Given the description of an element on the screen output the (x, y) to click on. 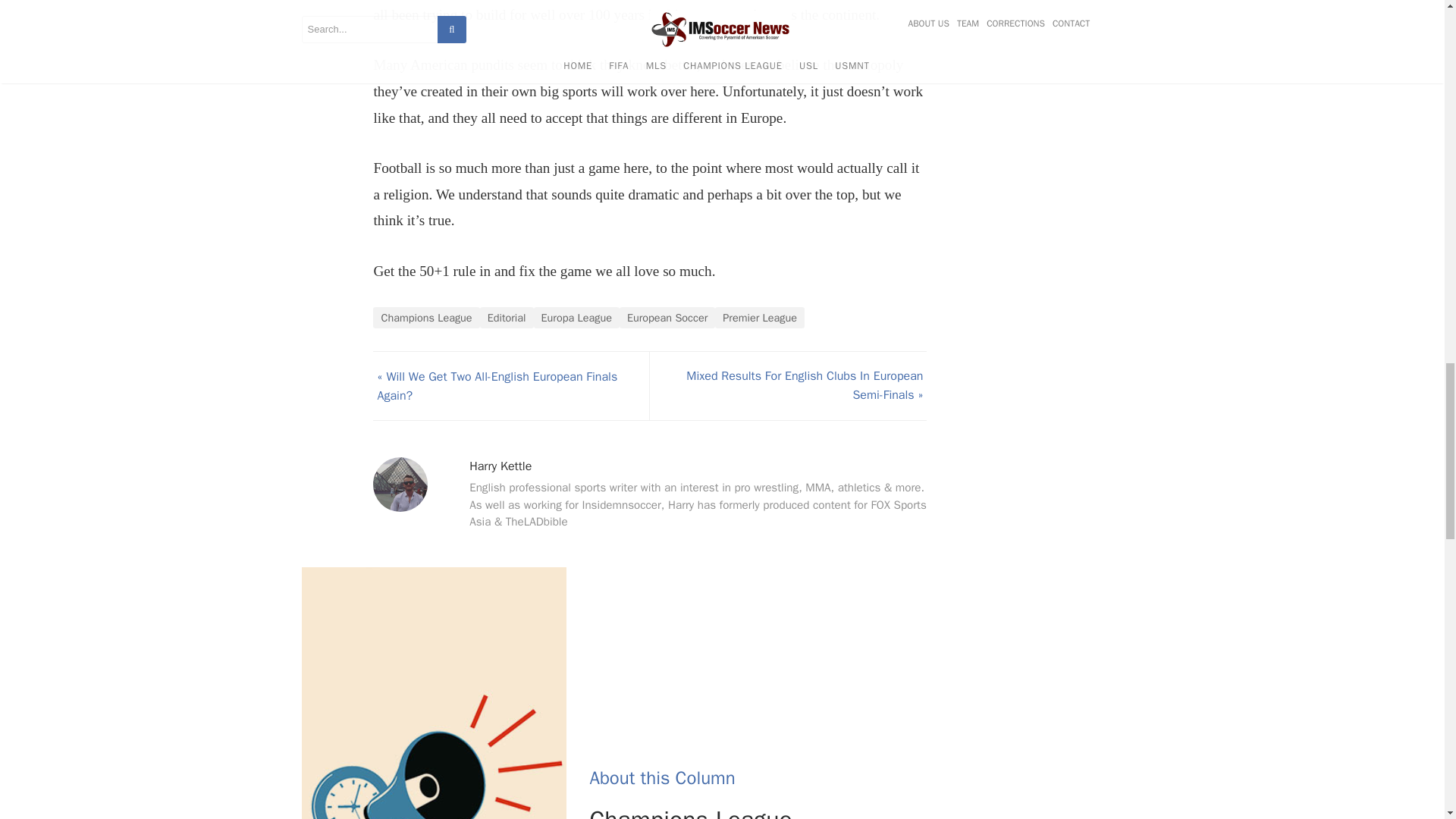
Europa League (577, 317)
Harry Kettle (499, 466)
Premier League (759, 317)
Champions League (425, 317)
European Soccer (667, 317)
Editorial (507, 317)
